Given the description of an element on the screen output the (x, y) to click on. 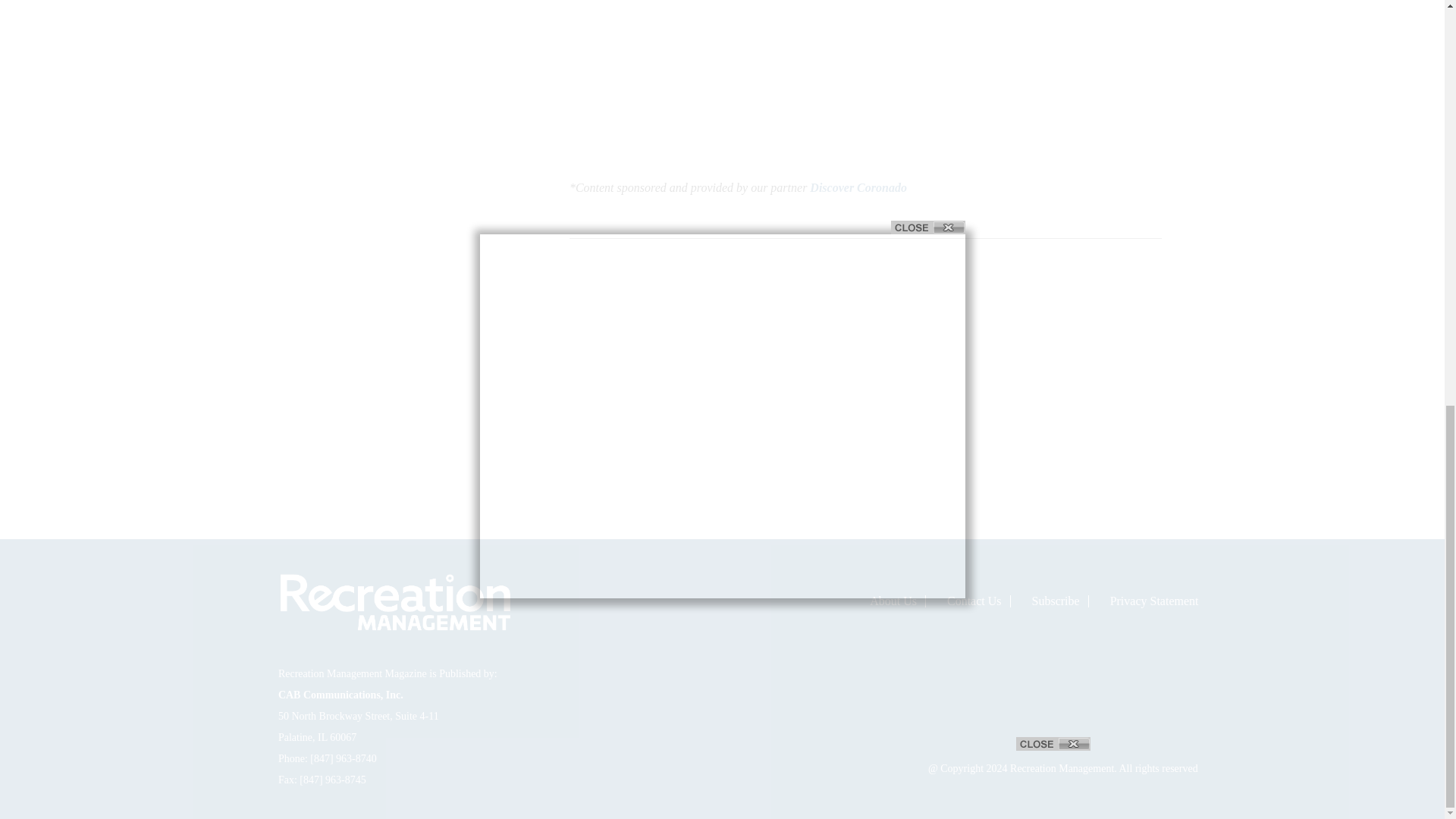
3rd party ad content (373, 321)
YouTube video player (865, 71)
3rd party ad content (722, 7)
3rd party ad content (373, 98)
